Given the description of an element on the screen output the (x, y) to click on. 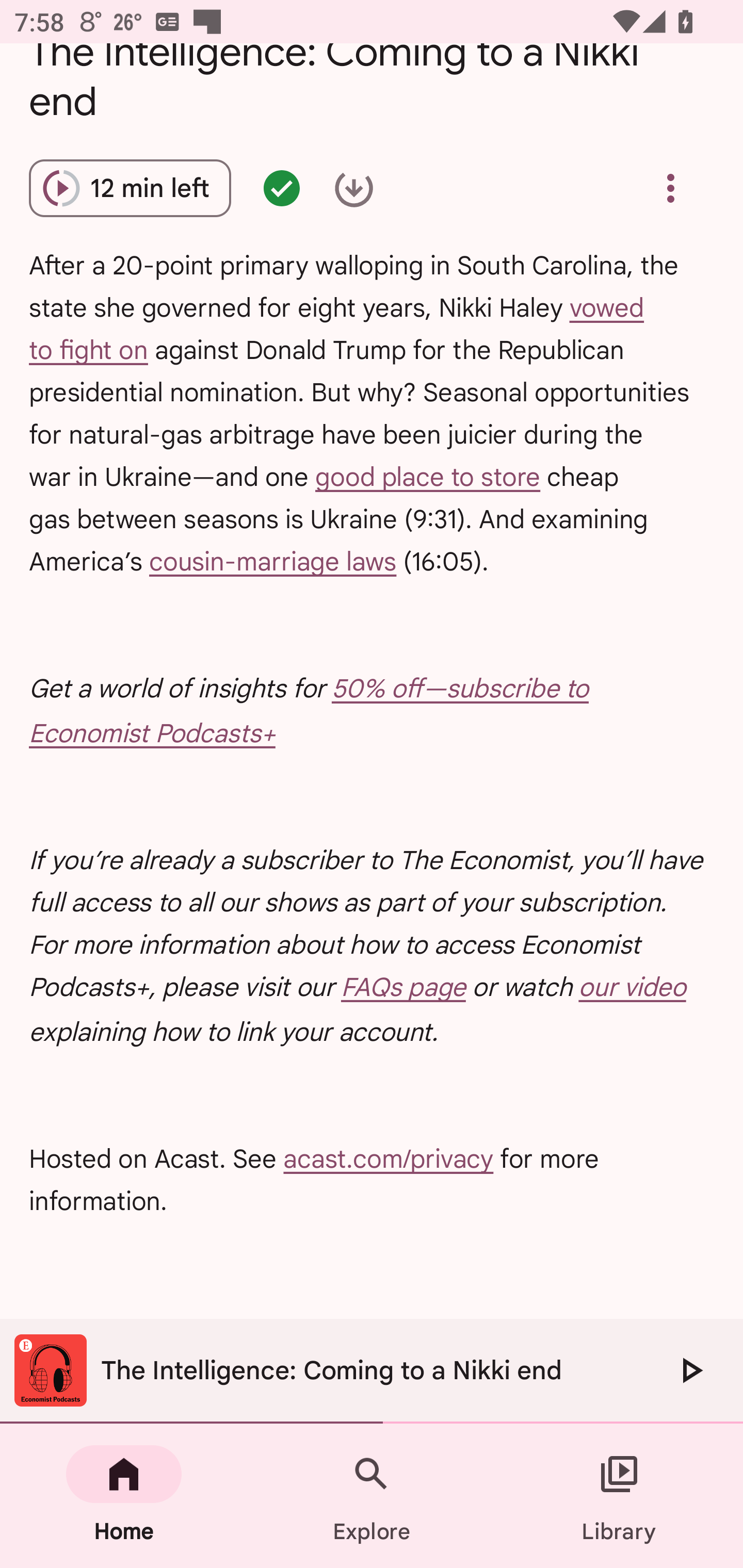
Episode queued - double tap for options (281, 188)
Queued to download - double tap for options (354, 188)
Overflow menu (670, 188)
Play (690, 1370)
Explore (371, 1495)
Library (619, 1495)
